Given the description of an element on the screen output the (x, y) to click on. 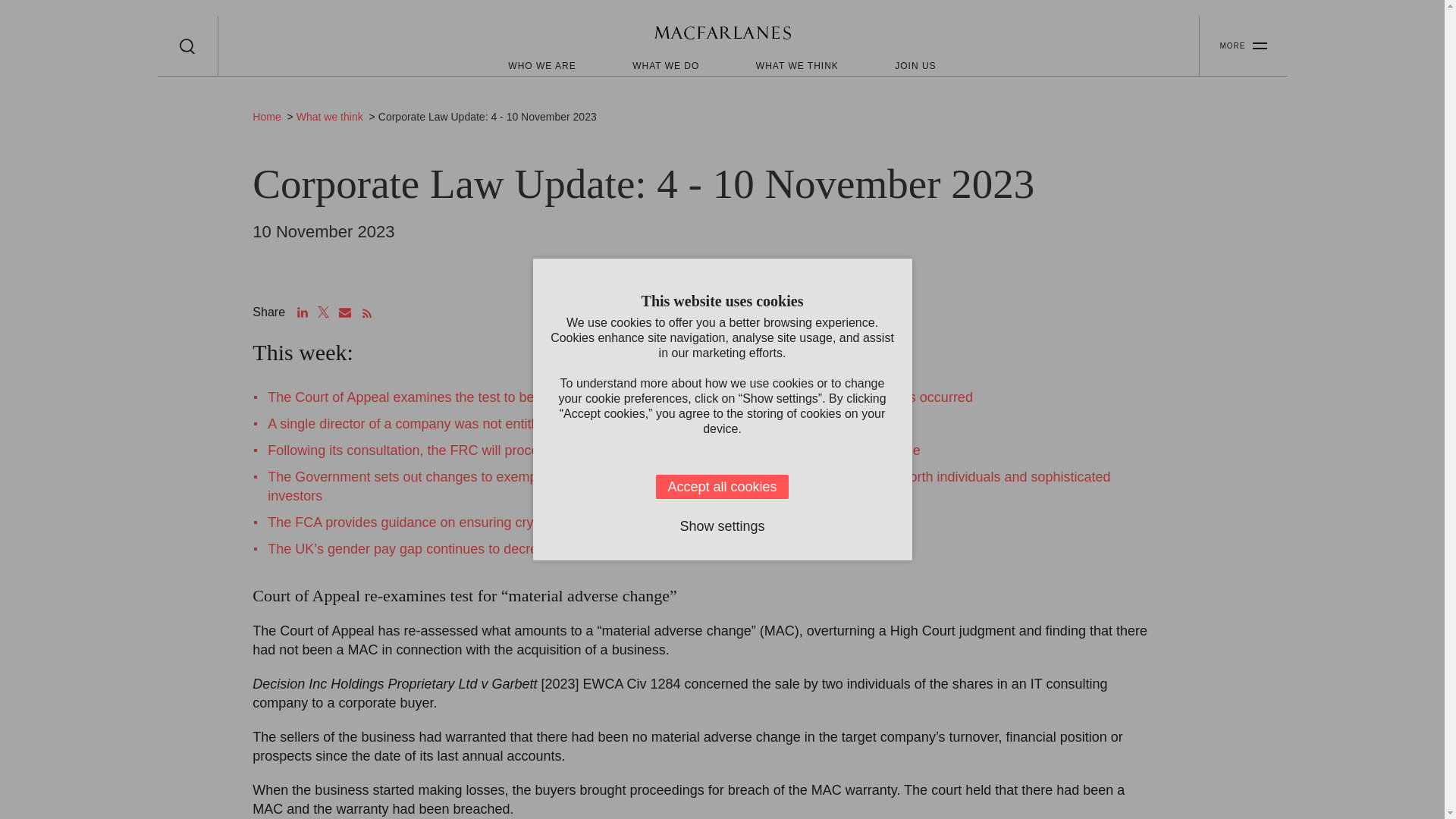
WHO WE ARE (541, 65)
WHAT WE DO (664, 65)
MACFARLANES (721, 35)
Search (187, 46)
WHAT WE THINK (796, 65)
